Given the description of an element on the screen output the (x, y) to click on. 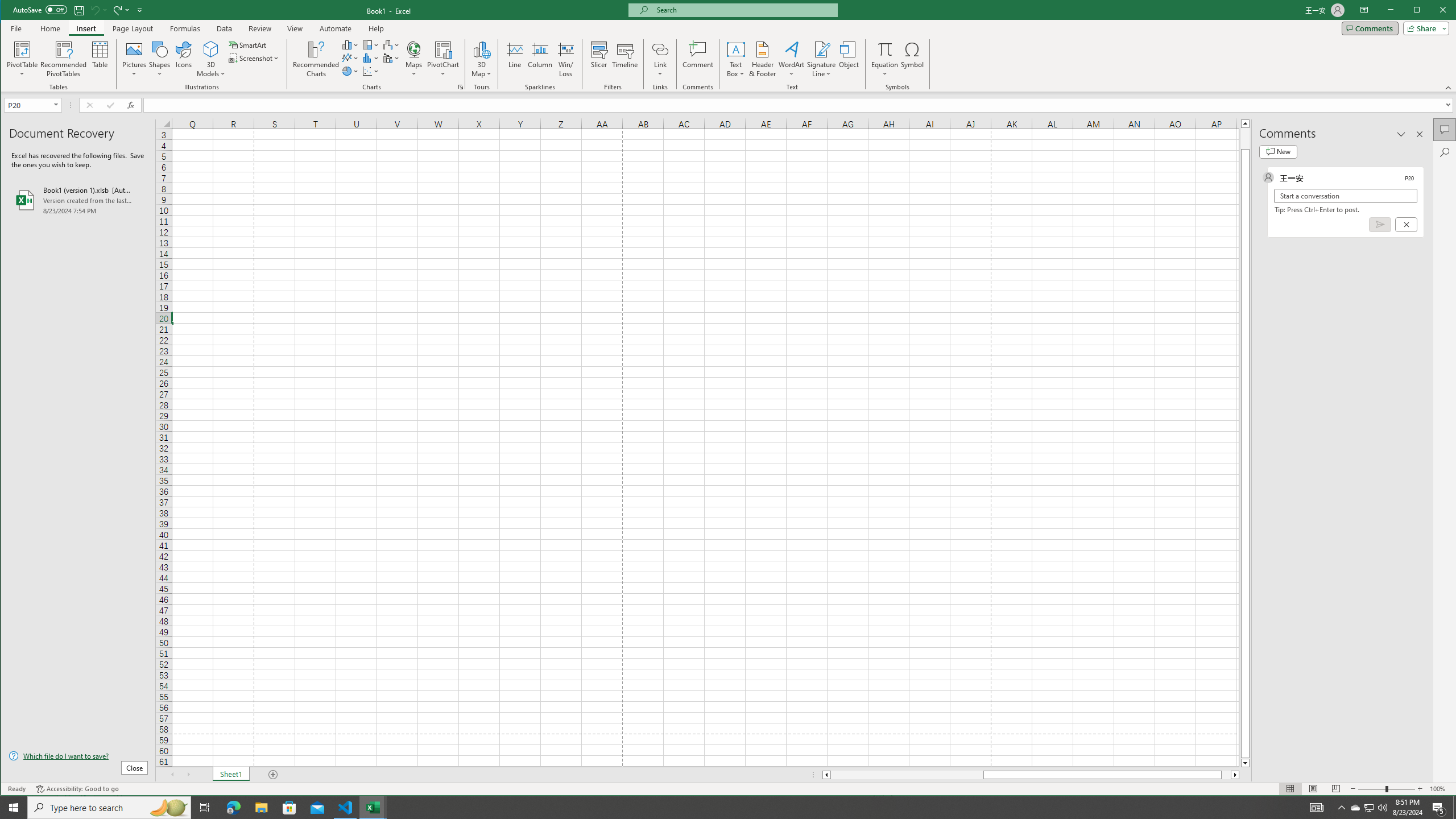
Table (100, 59)
WordArt (791, 59)
Insert Pie or Doughnut Chart (350, 70)
Recommended Charts (460, 86)
Post comment (Ctrl + Enter) (1379, 224)
AutomationID: 4105 (1316, 807)
